Given the description of an element on the screen output the (x, y) to click on. 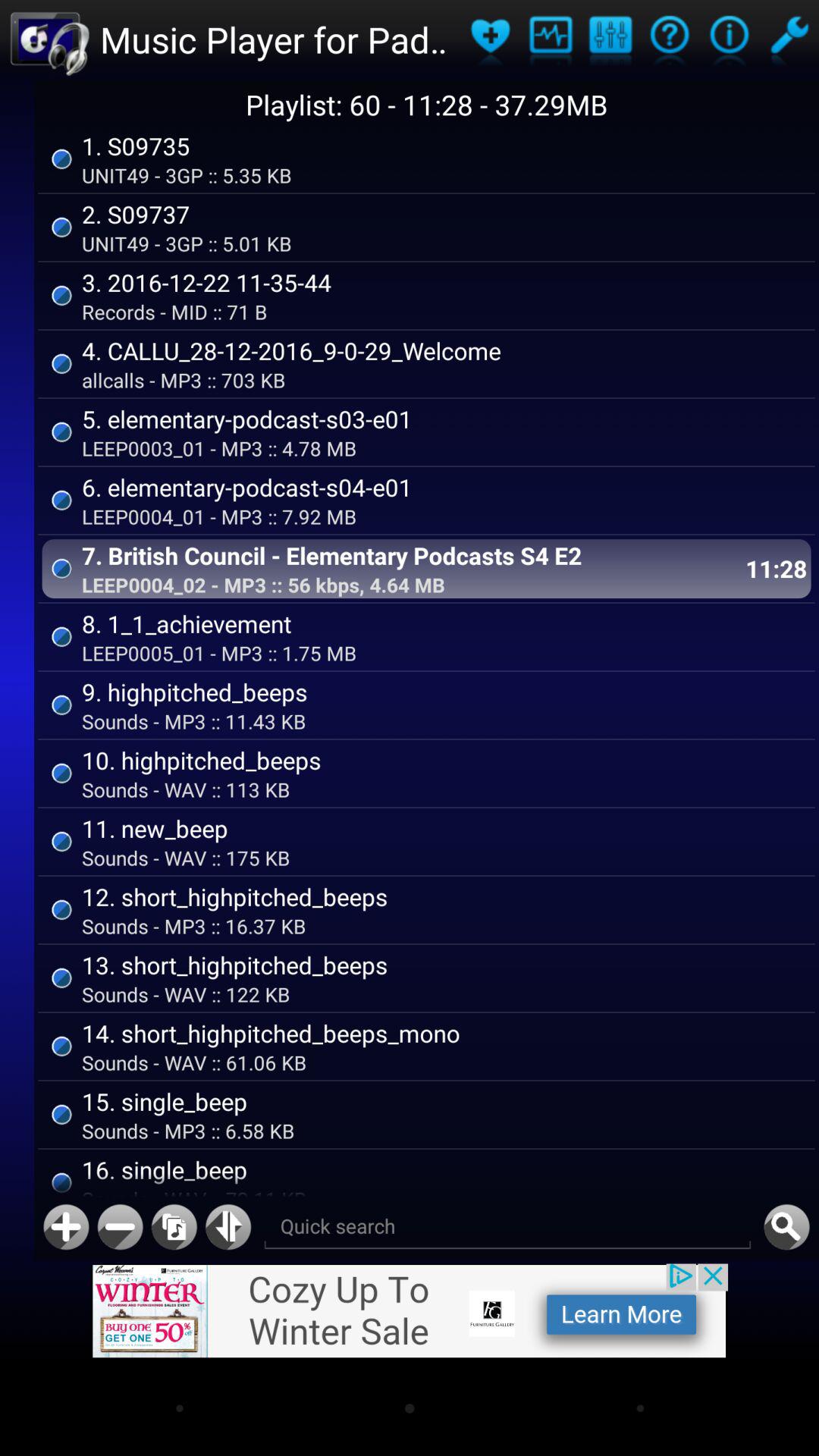
search (786, 1226)
